Given the description of an element on the screen output the (x, y) to click on. 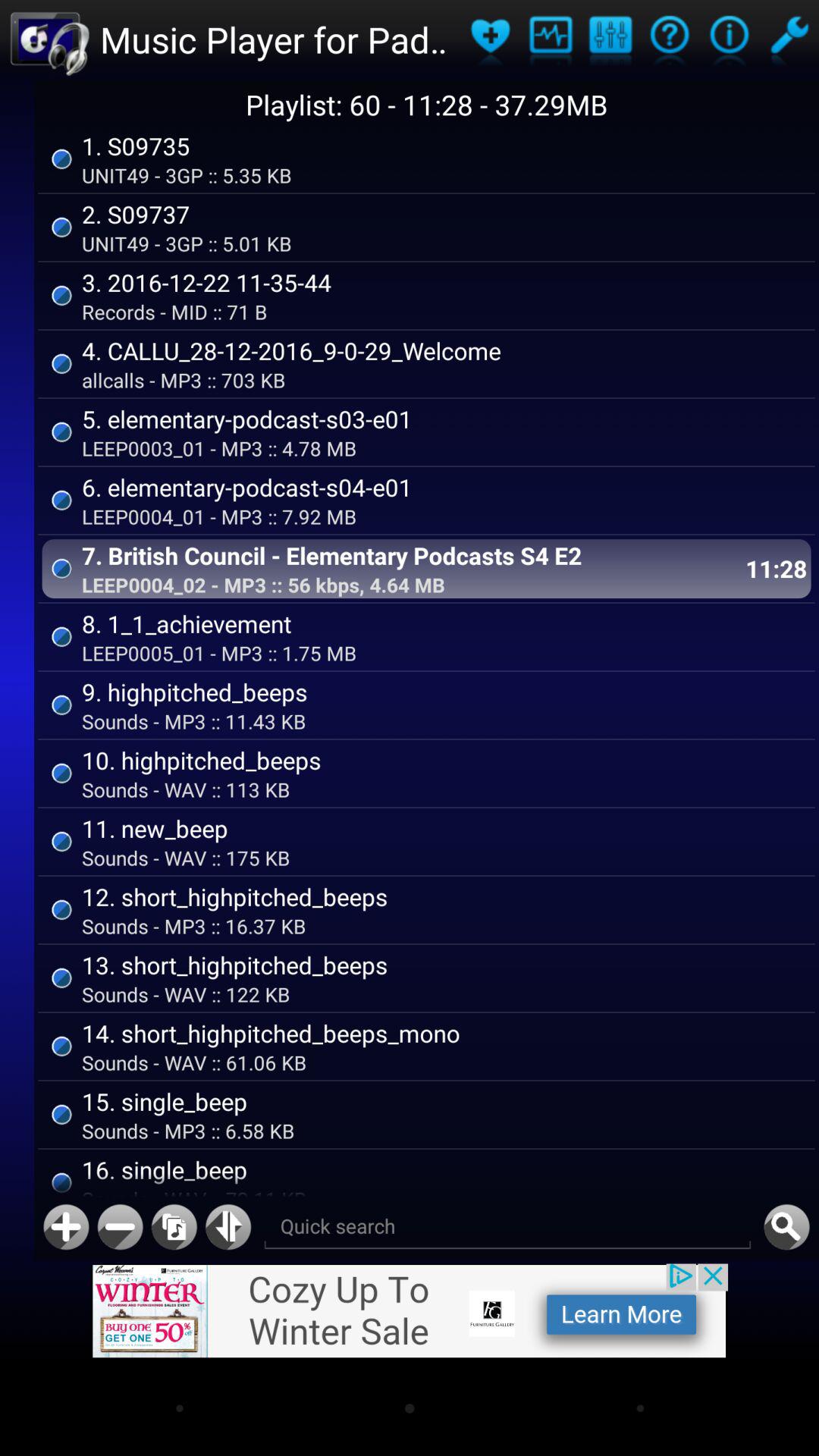
search (786, 1226)
